Given the description of an element on the screen output the (x, y) to click on. 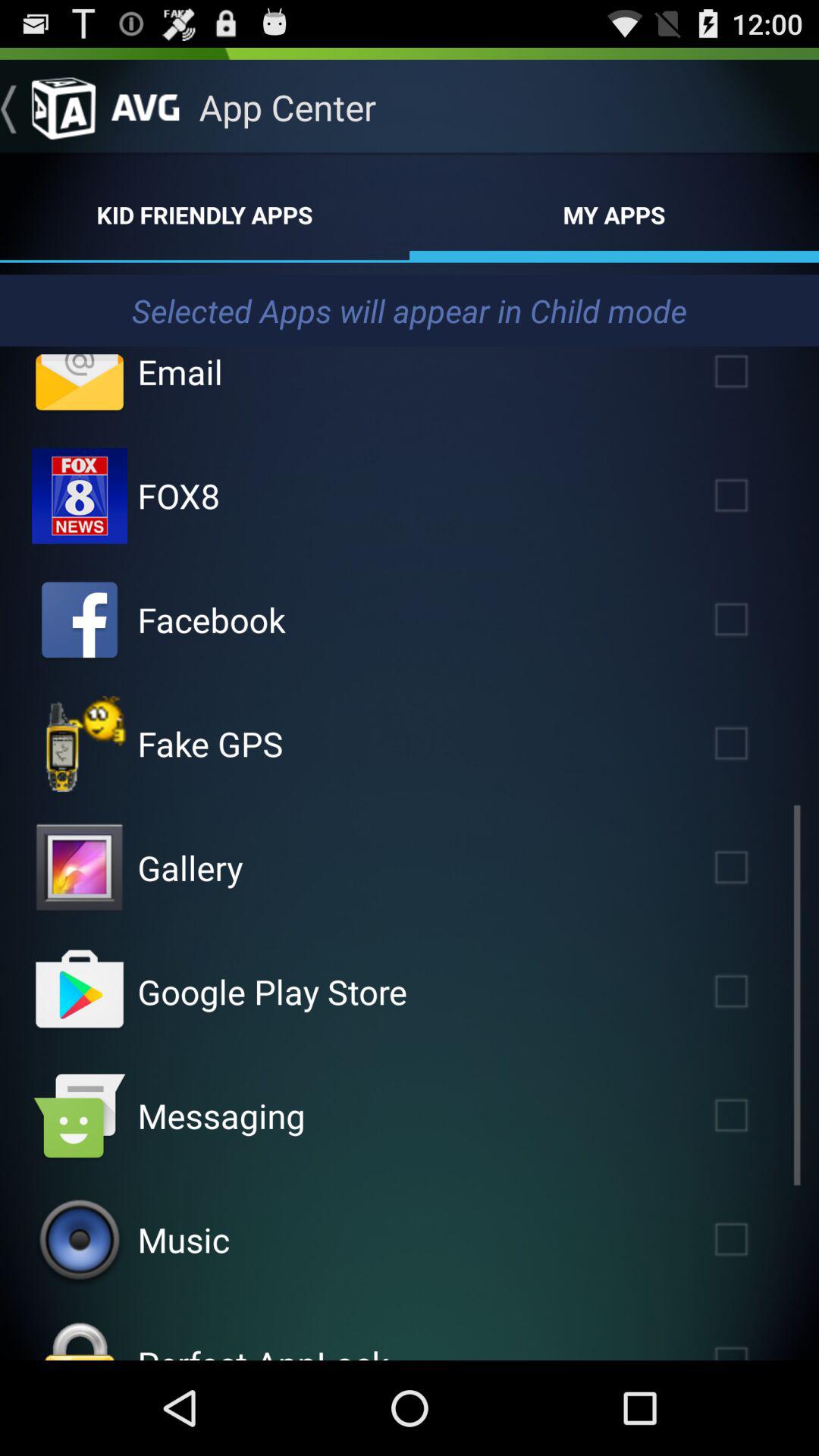
toggle app selection (79, 743)
